Given the description of an element on the screen output the (x, y) to click on. 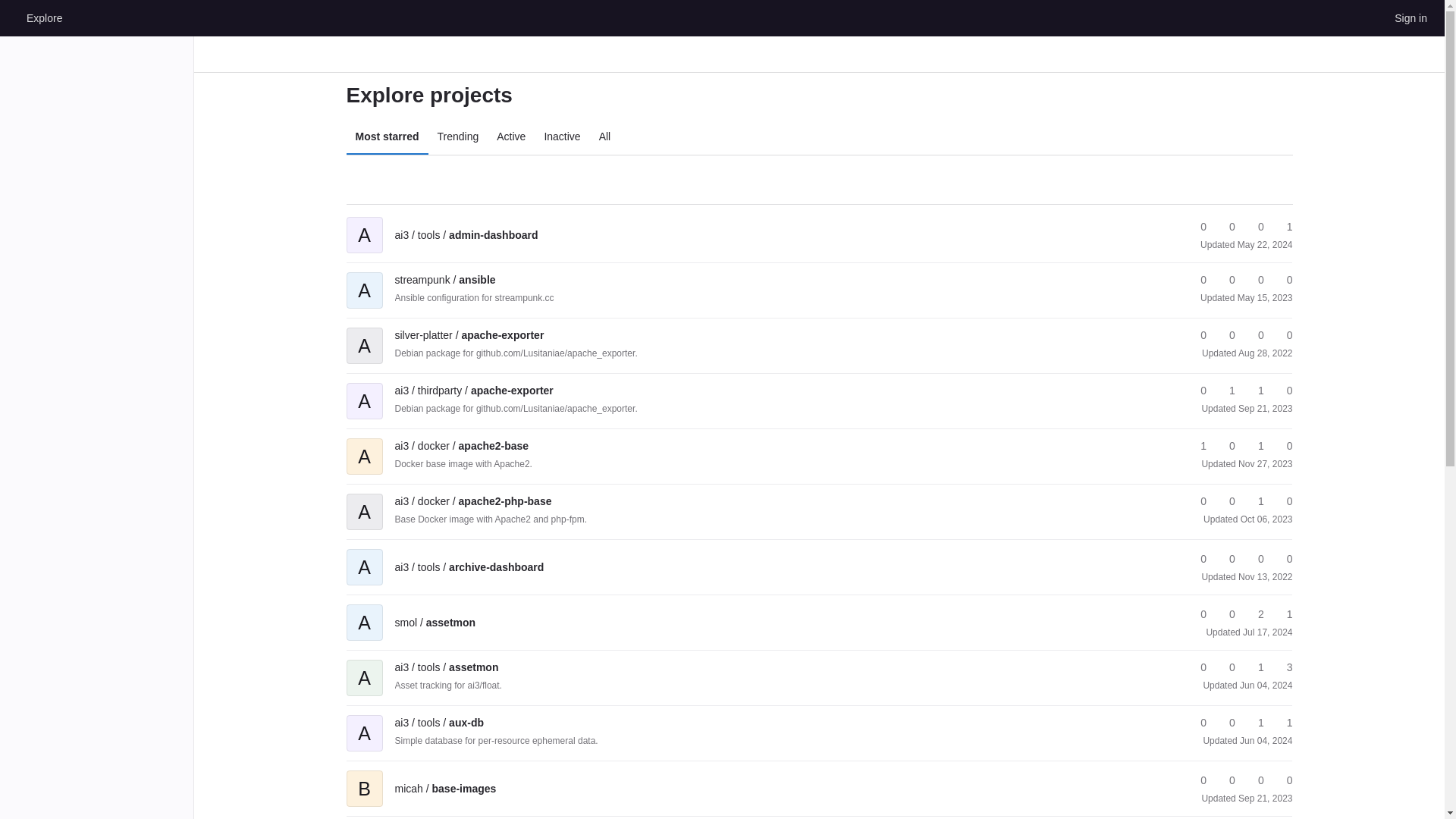
Explore (44, 17)
1 (1253, 390)
Forks (1224, 227)
Stars (1196, 279)
0 (1253, 227)
Stars (1196, 227)
0 (1196, 335)
0 (1224, 279)
A (363, 335)
May 22, 2024 3:25pm (1264, 244)
A (363, 224)
ansible (444, 279)
Inactive (561, 135)
Forks (1224, 279)
Most starred (387, 135)
